Given the description of an element on the screen output the (x, y) to click on. 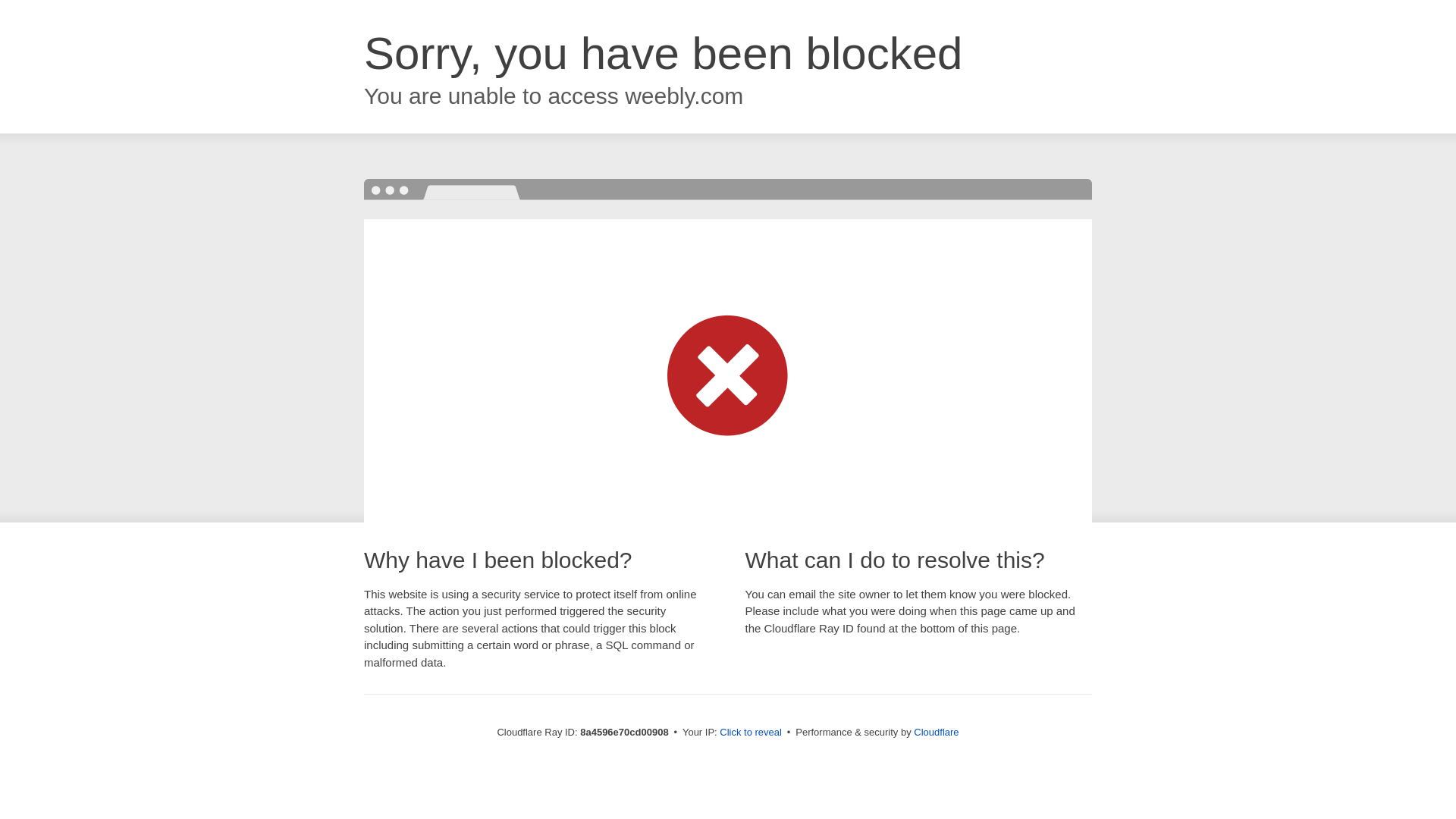
Cloudflare (936, 731)
Click to reveal (750, 732)
